Given the description of an element on the screen output the (x, y) to click on. 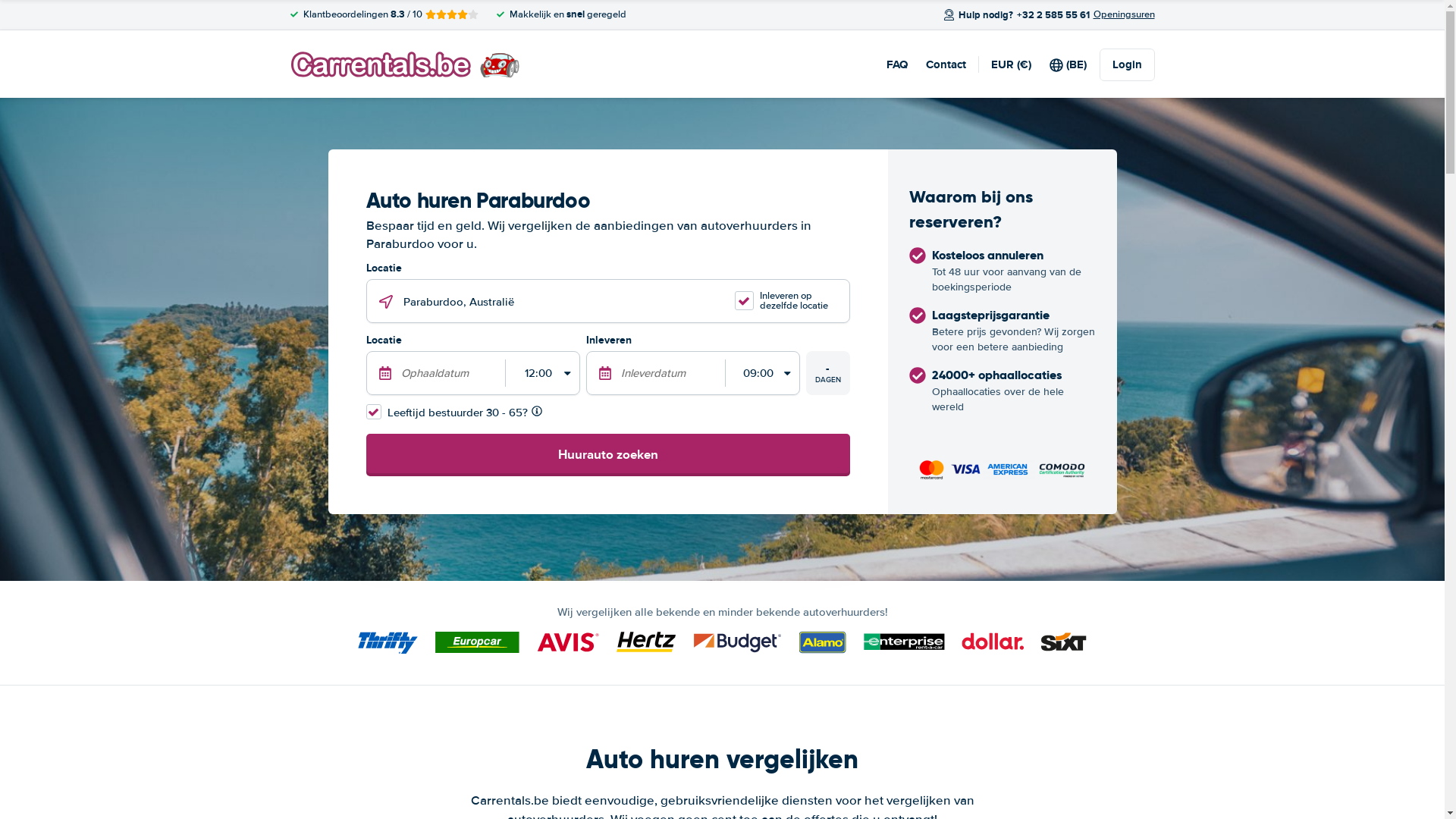
Contact Element type: text (945, 64)
star-solid Element type: hover (450, 14)
Huurauto zoeken Element type: text (607, 454)
calendar-alt-regular Element type: hover (604, 372)
FAQ Element type: text (895, 64)
globe-regular Element type: hover (1056, 65)
star-solid Element type: hover (429, 14)
location-arrow-regular Element type: hover (385, 301)
check-solid Element type: hover (293, 14)
info-circle-regular Element type: hover (535, 410)
check-circle-solid Element type: hover (916, 315)
check-circle-solid Element type: hover (916, 375)
star-solid Element type: hover (440, 14)
calendar-alt-regular Element type: hover (384, 372)
star-solid Element type: hover (461, 14)
check-solid Element type: hover (499, 14)
check-circle-solid Element type: hover (916, 255)
star-solid Element type: hover (472, 14)
user-headset-light Element type: hover (948, 14)
